Given the description of an element on the screen output the (x, y) to click on. 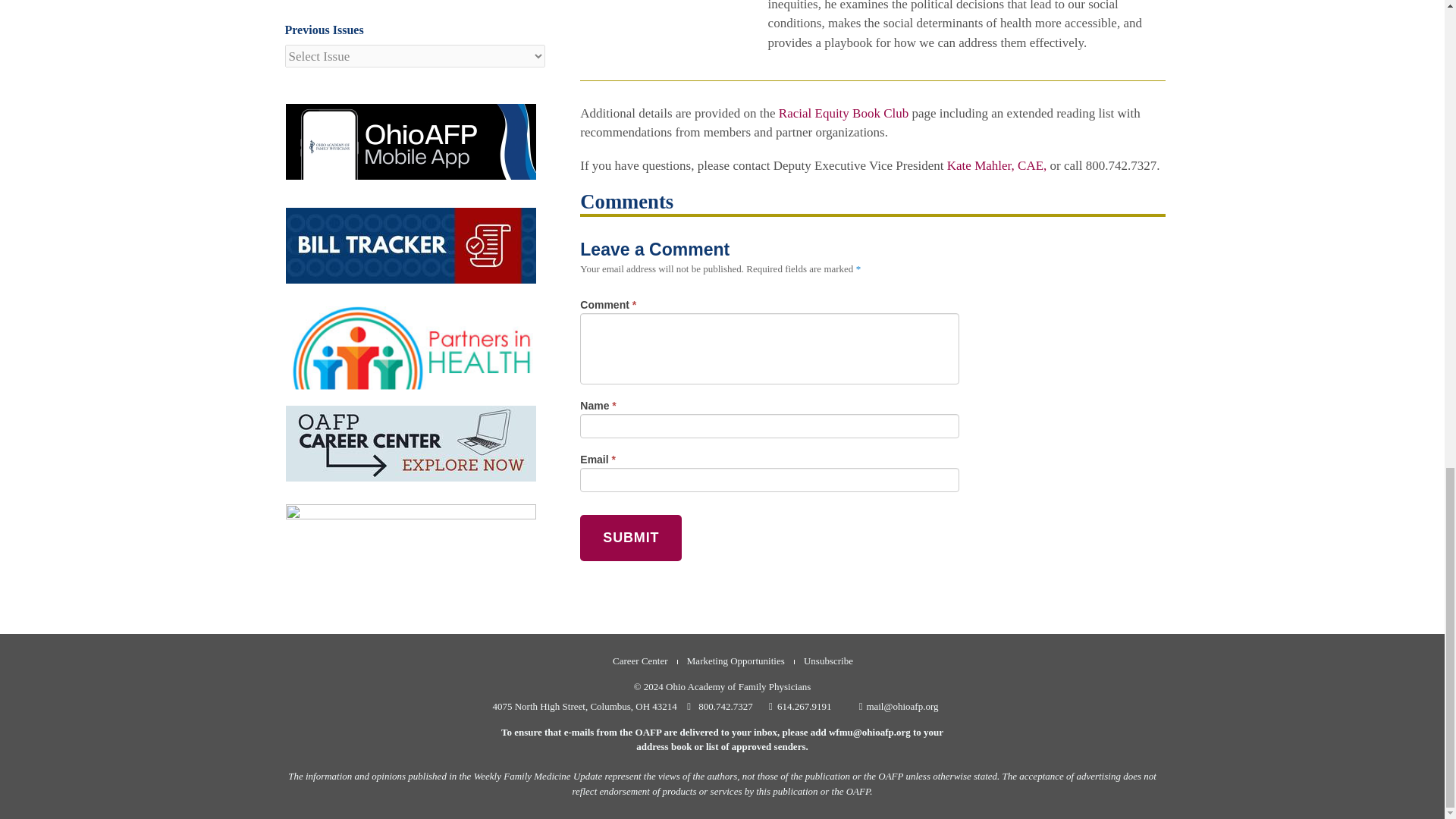
Racial Equity Book Club (843, 113)
Kate Mahler, CAE, (996, 165)
